Given the description of an element on the screen output the (x, y) to click on. 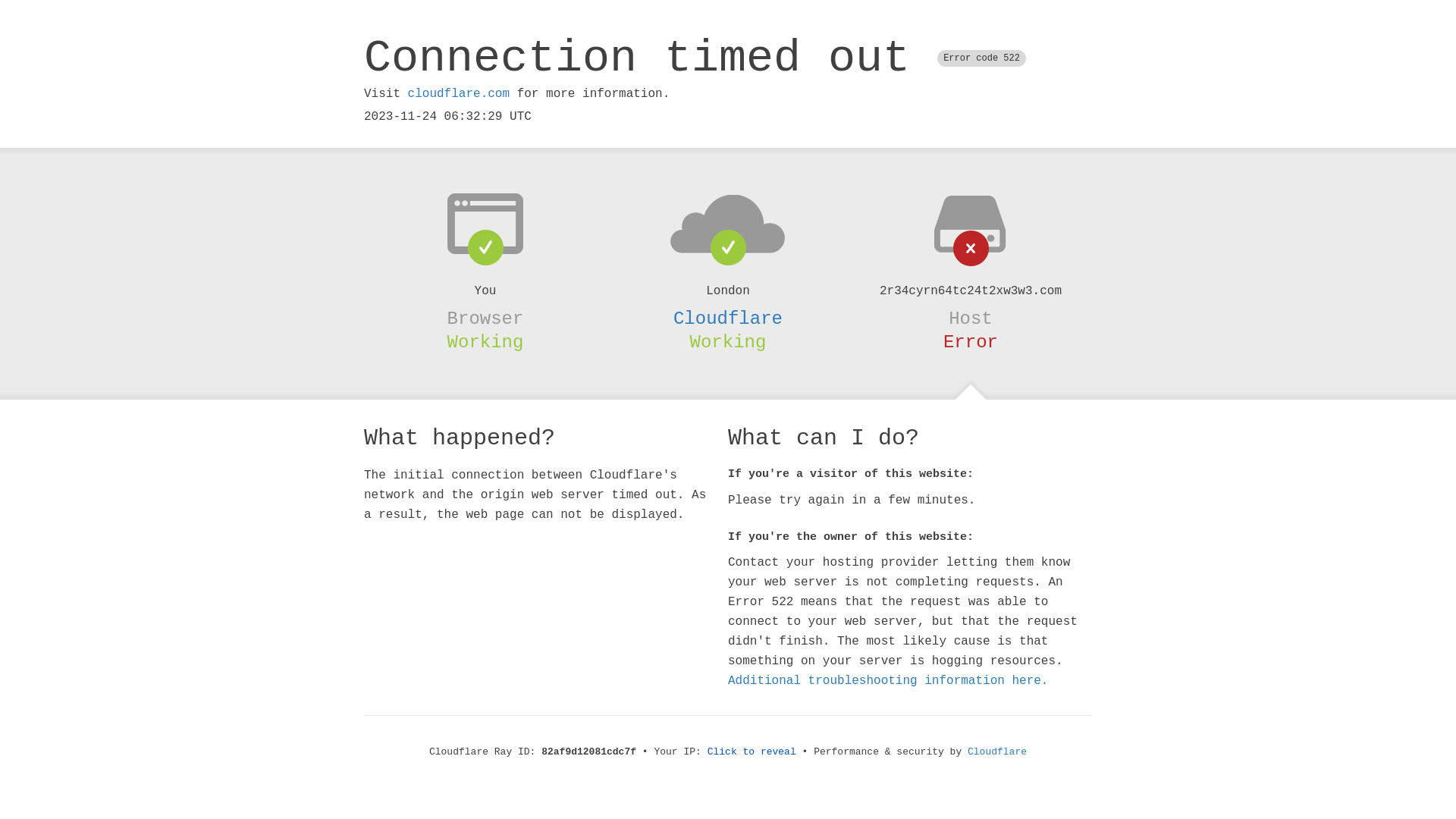
Cloudflare Element type: text (996, 751)
Click to reveal Element type: text (751, 751)
cloudflare.com Element type: text (458, 93)
Cloudflare Element type: text (727, 318)
Additional troubleshooting information here. Element type: text (888, 680)
